Given the description of an element on the screen output the (x, y) to click on. 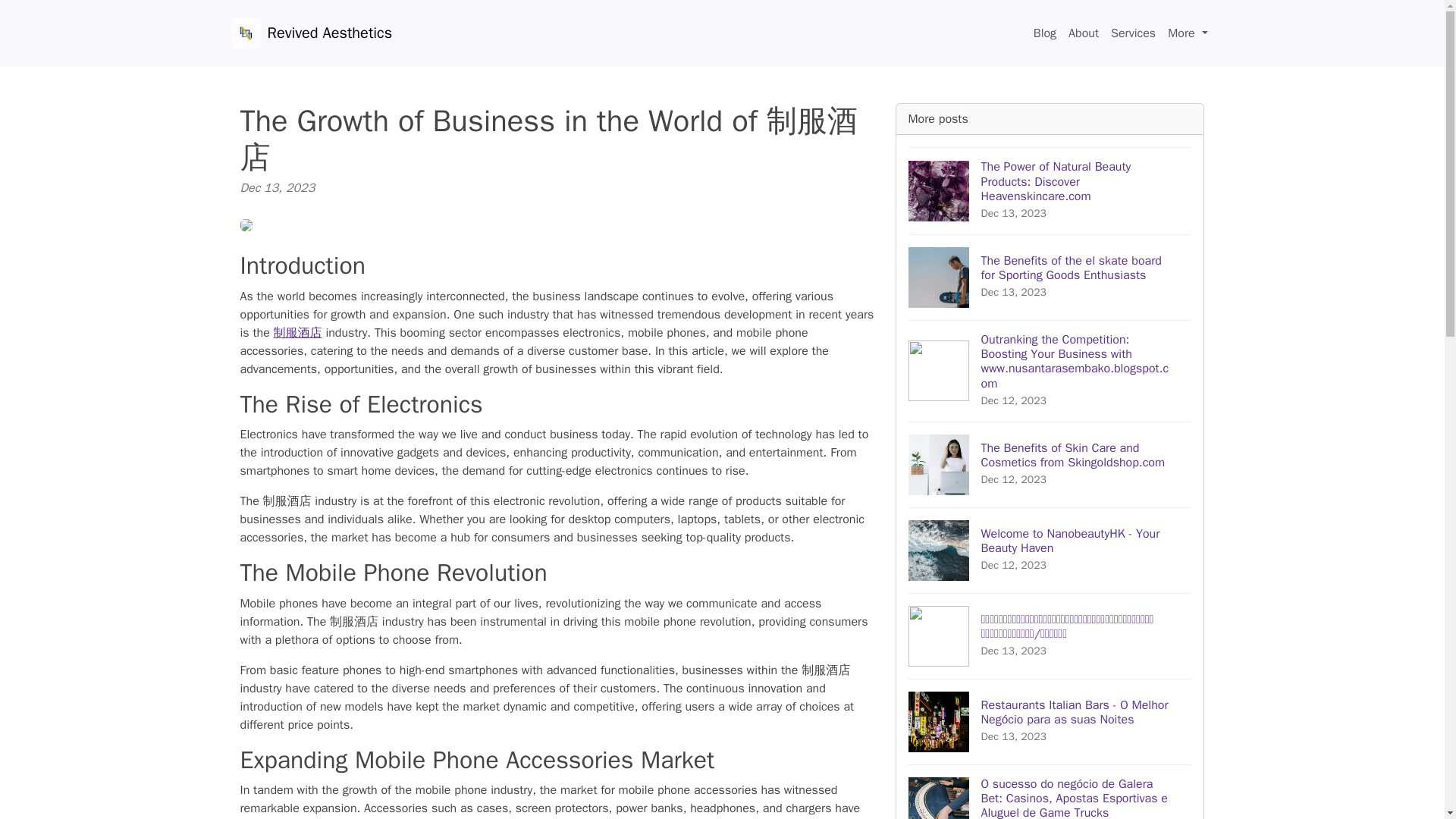
Revived Aesthetics (310, 33)
More (1186, 33)
Blog (1044, 33)
About (1050, 549)
Services (1083, 33)
